Given the description of an element on the screen output the (x, y) to click on. 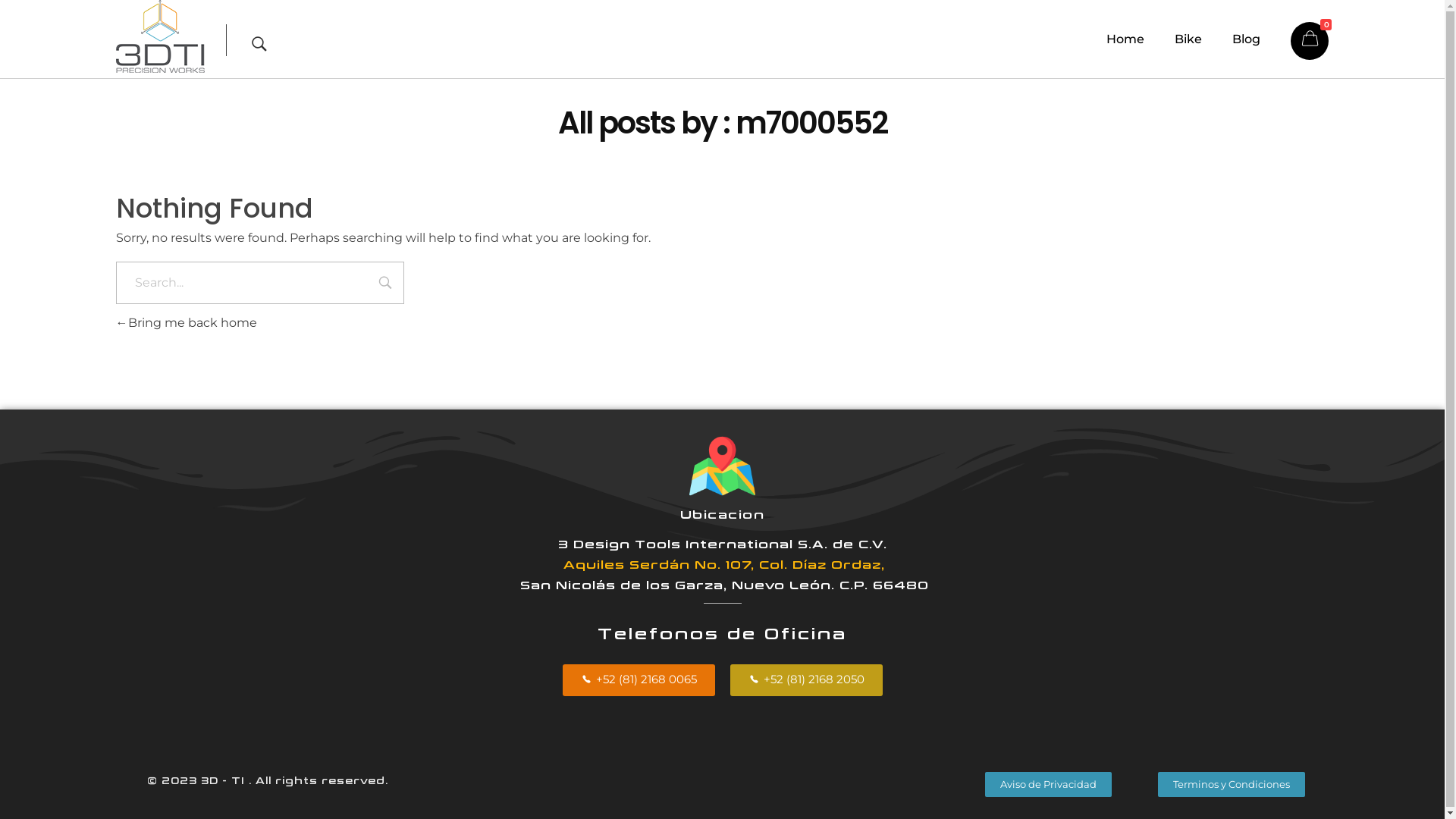
3D - TI Element type: text (142, 81)
+52 (81) 2168 2050 Element type: text (805, 680)
+52 (81) 2168 0065 Element type: text (638, 680)
Bring me back home Element type: text (185, 322)
0 Element type: text (1309, 40)
Home Element type: text (1140, 39)
Terminos y Condiciones Element type: text (1231, 784)
Search Element type: text (385, 284)
Aviso de Privacidad Element type: text (1048, 784)
Blog Element type: text (1261, 39)
Bike Element type: text (1203, 39)
